Given the description of an element on the screen output the (x, y) to click on. 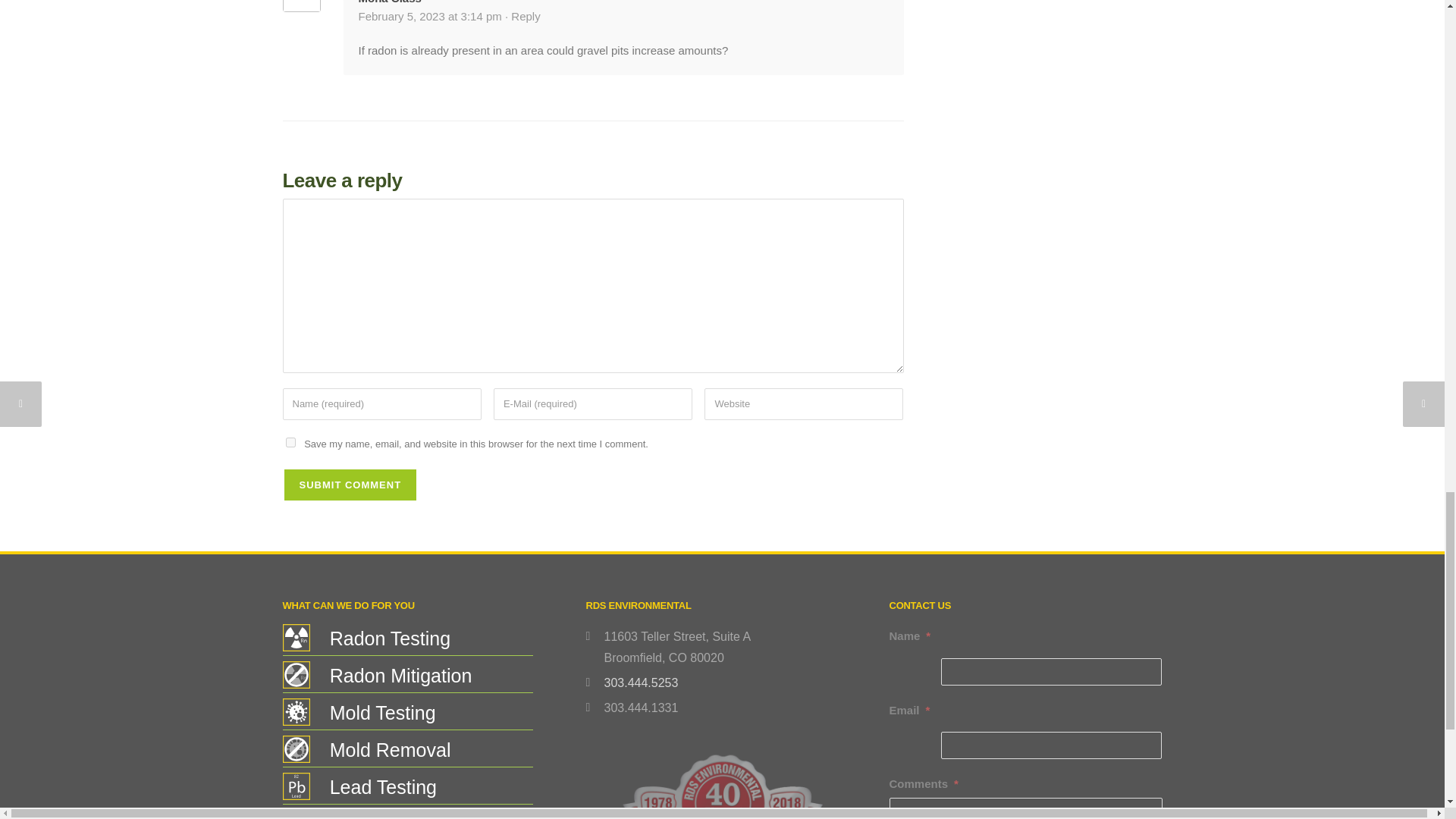
Website (803, 404)
Submit Comment (349, 484)
yes (290, 442)
